Given the description of an element on the screen output the (x, y) to click on. 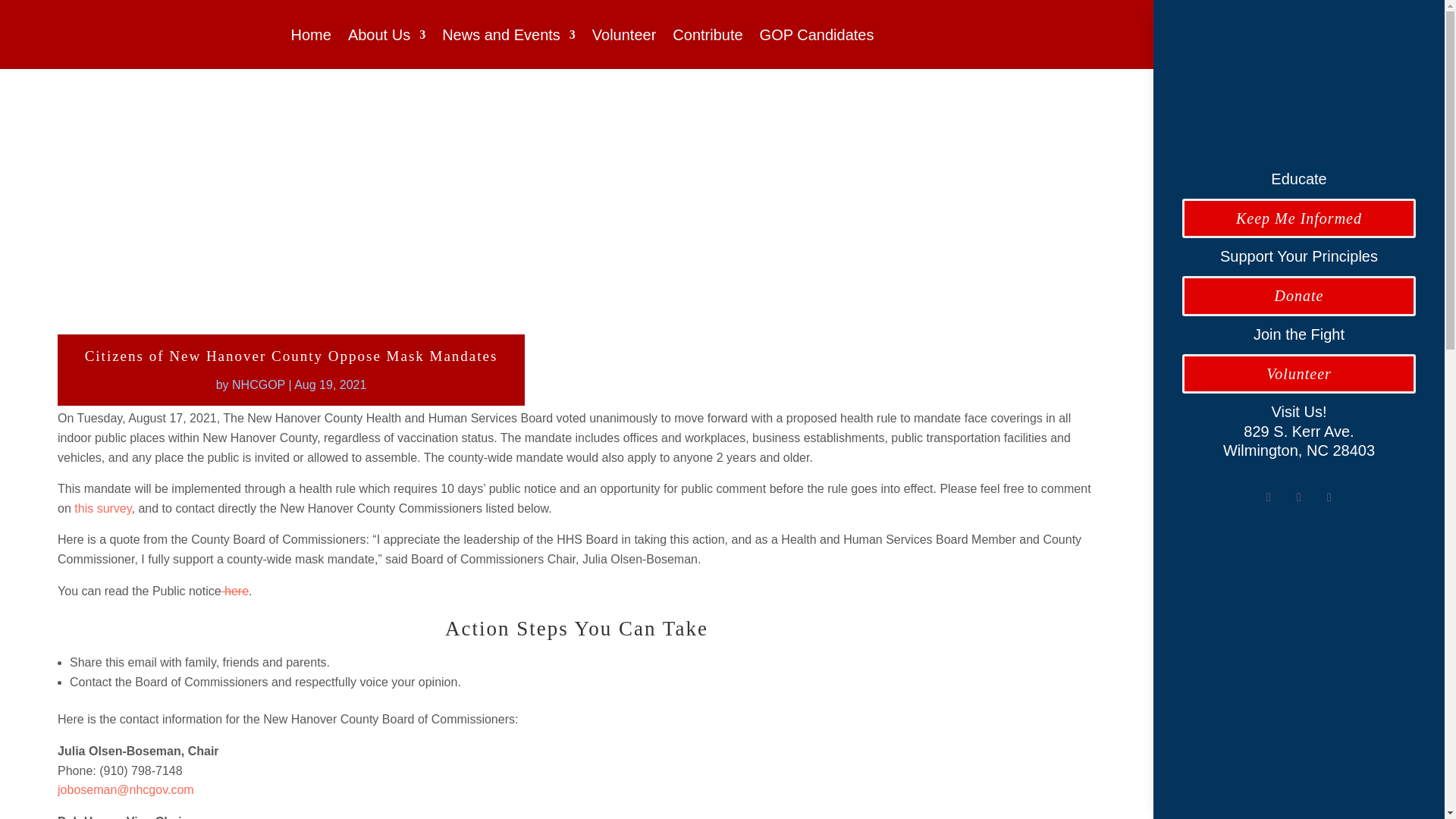
GOP Candidates (817, 37)
Posts by NHCGOP (258, 384)
Home (311, 37)
About Us (386, 37)
Contribute (707, 37)
Follow on Facebook (1268, 497)
Keep Me Informed (1298, 218)
Volunteer (1298, 373)
Follow on Instagram (1328, 497)
Donate (1298, 295)
